Given the description of an element on the screen output the (x, y) to click on. 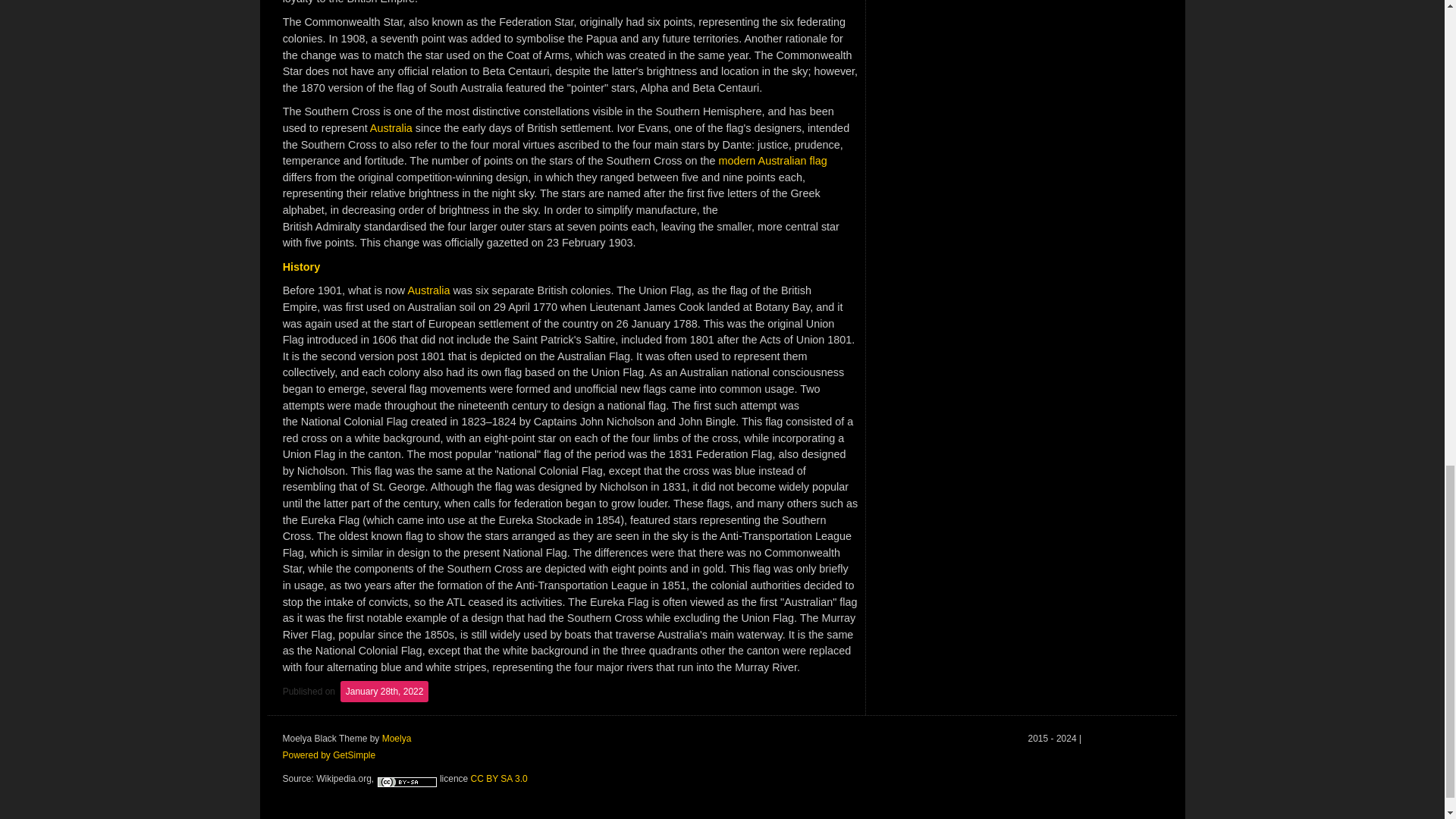
Powered by GetSimple (328, 755)
modern Australian flag (773, 160)
Australia (390, 128)
Australia (428, 290)
CC BY SA 3.0 (498, 778)
Moelya (396, 738)
